Given the description of an element on the screen output the (x, y) to click on. 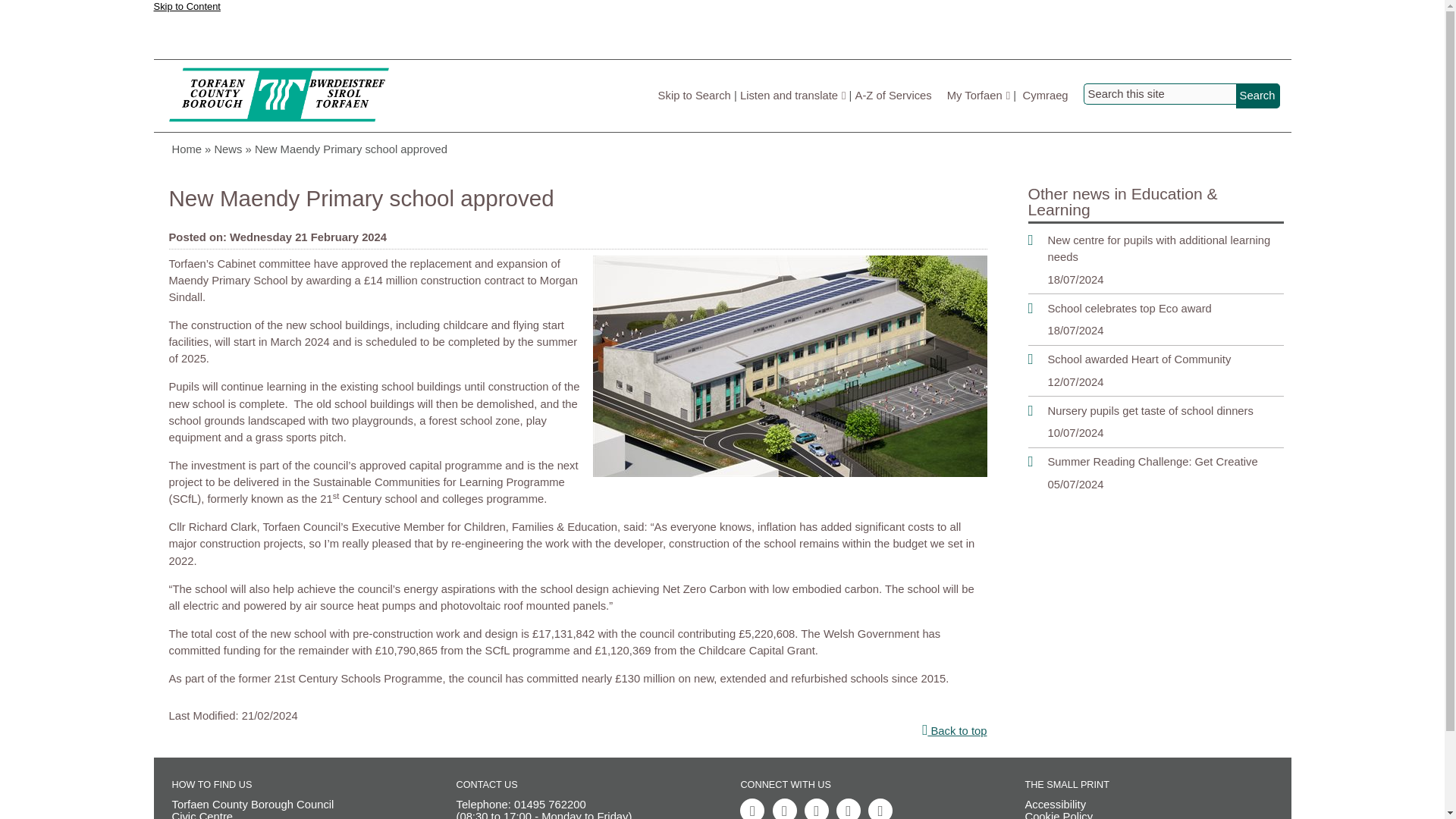
My Torfaen (978, 95)
Skip to Content (185, 11)
Accessibility (1148, 804)
Search (1257, 95)
Summer Reading Challenge: Get Creative (1155, 461)
New centre for pupils with additional learning needs (1155, 248)
Skip to Search (694, 95)
Skip to Content (185, 11)
School celebrates top Eco award (1155, 308)
Search (1257, 95)
Search (1257, 95)
Nursery pupils get taste of school dinners (1155, 410)
Search this site (1159, 93)
School awarded Heart of Community (1155, 359)
Search this site (1159, 93)
